Given the description of an element on the screen output the (x, y) to click on. 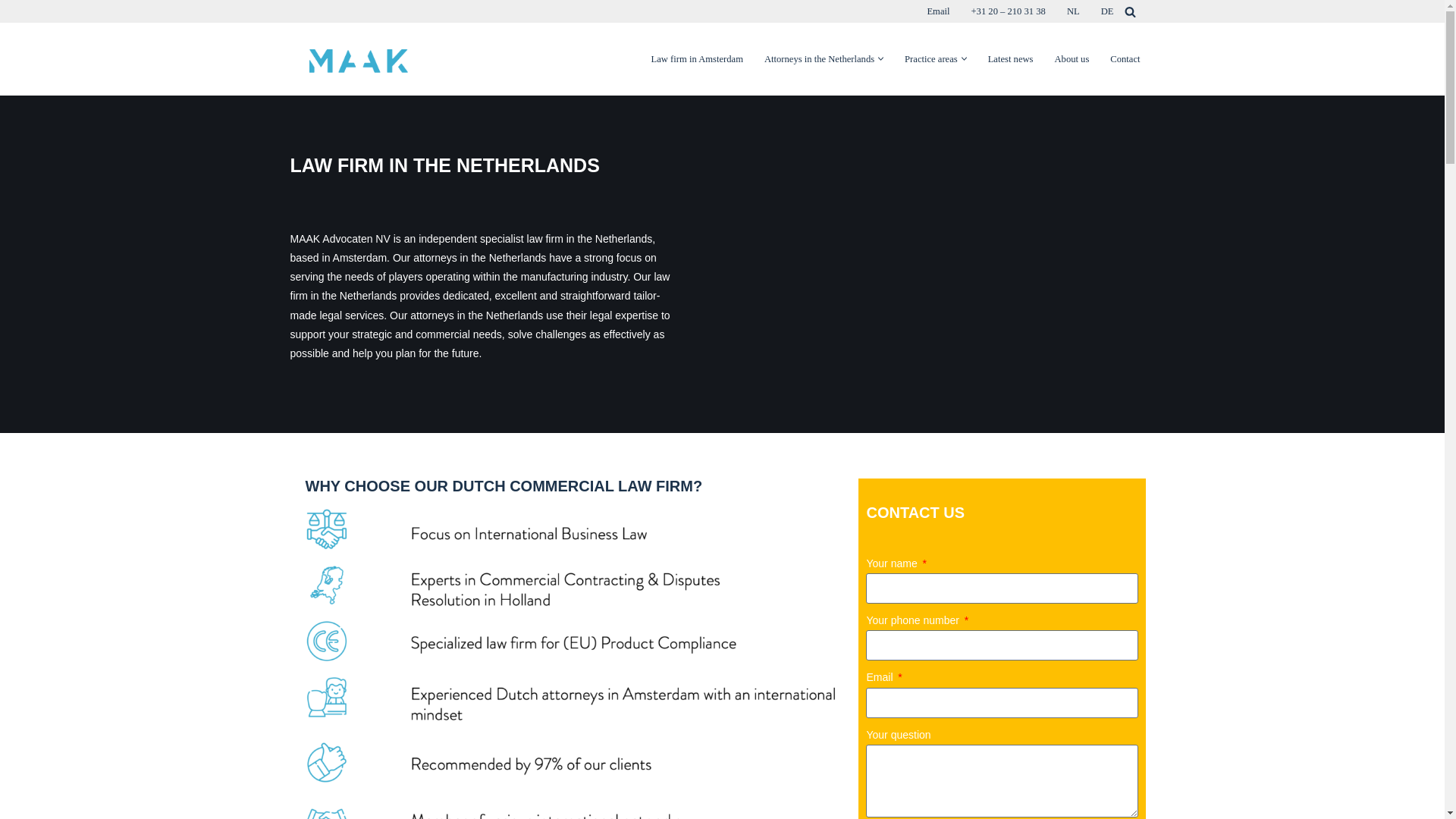
Skip to content (11, 31)
About us (1071, 58)
Contact (1124, 58)
Email (937, 10)
Latest news (1010, 58)
Law firm in Amsterdam (696, 58)
Practice areas (931, 58)
Attorneys in the Netherlands (819, 58)
